Given the description of an element on the screen output the (x, y) to click on. 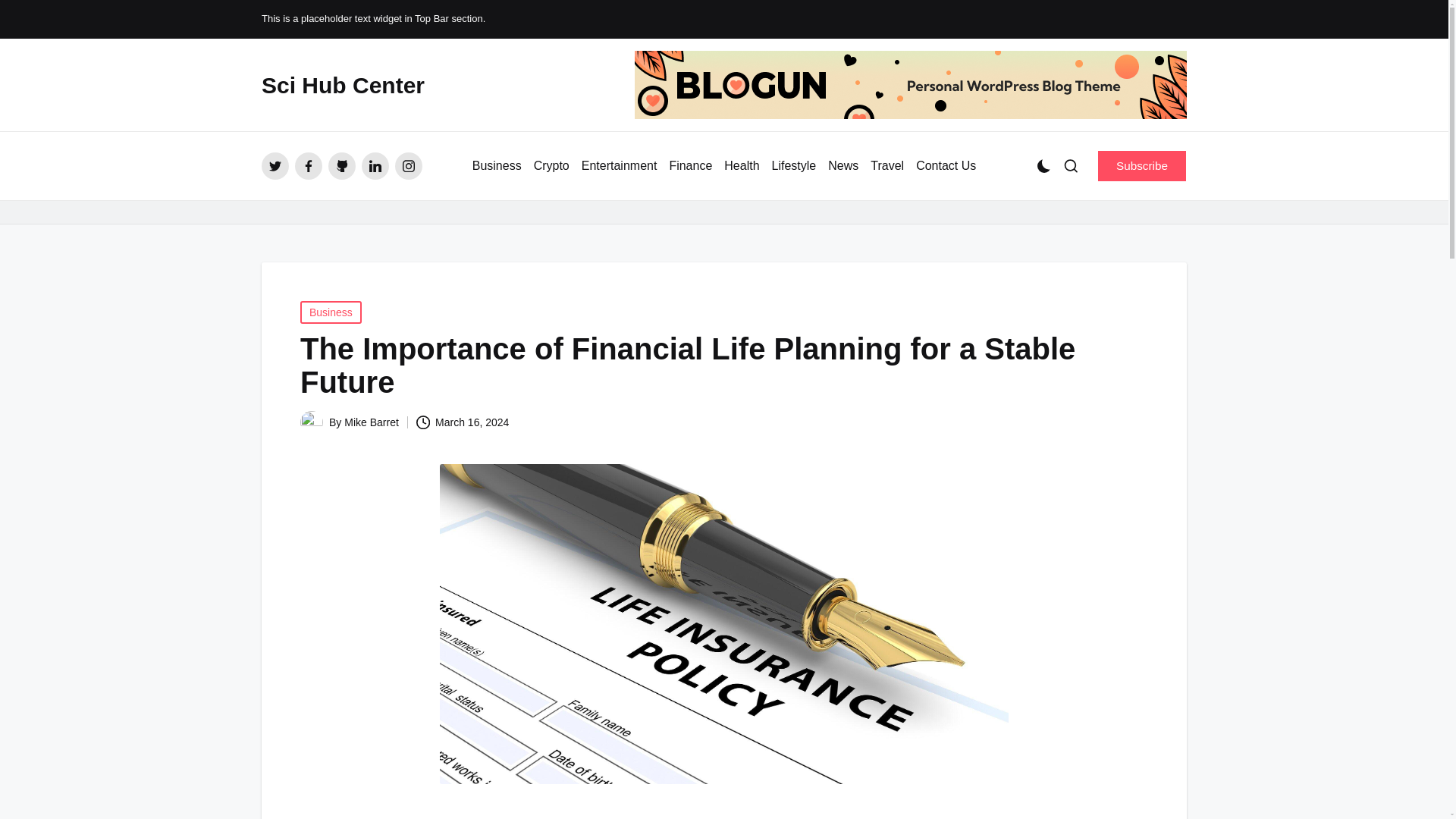
Lifestyle (793, 166)
Mike Barret (370, 422)
Entertainment (619, 166)
linkedin.com (374, 165)
View all posts by Mike Barret (370, 422)
facebook.com (308, 165)
Business (496, 166)
Sci Hub Center (343, 84)
instagram.com (408, 165)
Business (330, 312)
